Given the description of an element on the screen output the (x, y) to click on. 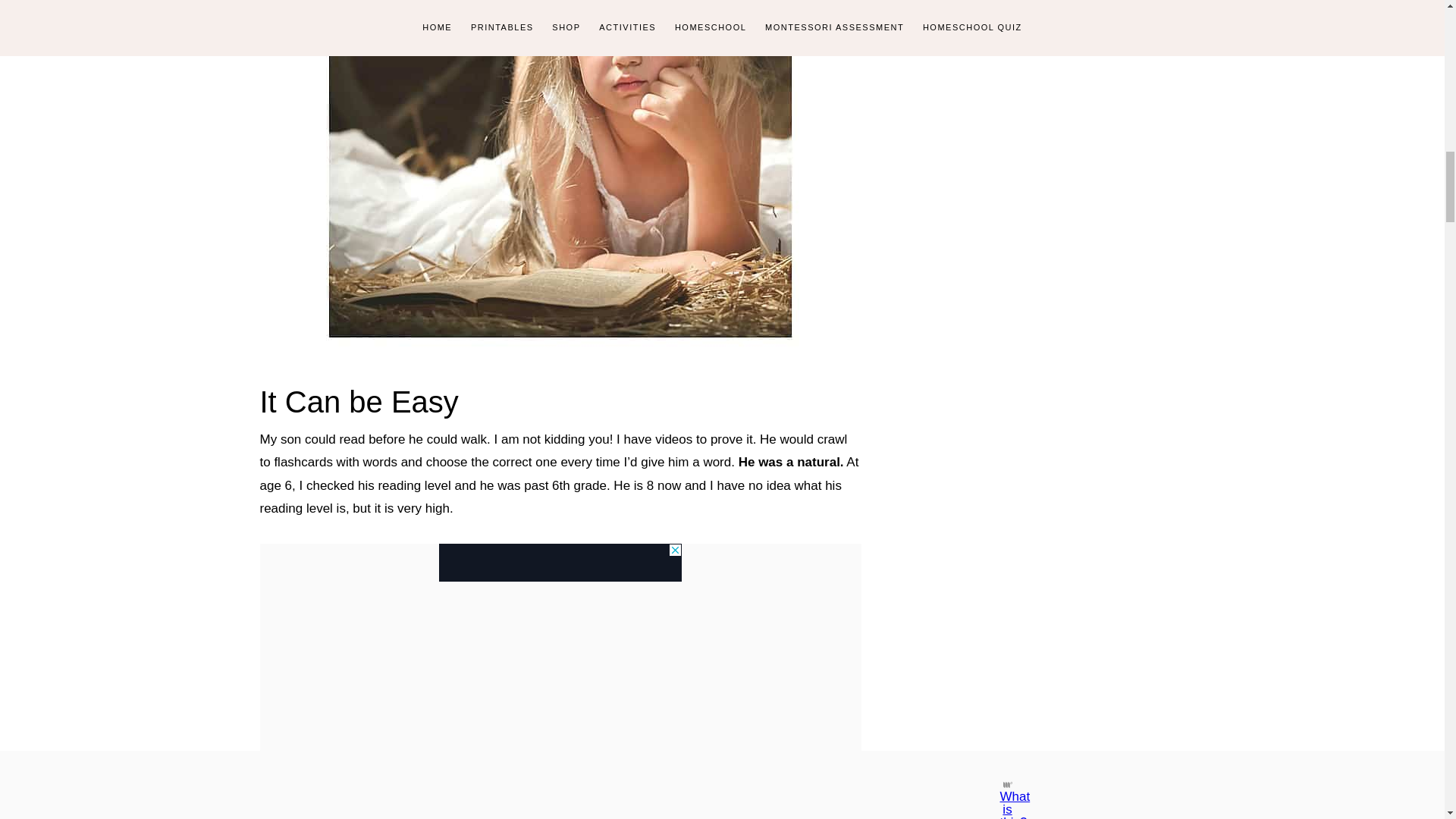
3rd party ad content (560, 562)
